Given the description of an element on the screen output the (x, y) to click on. 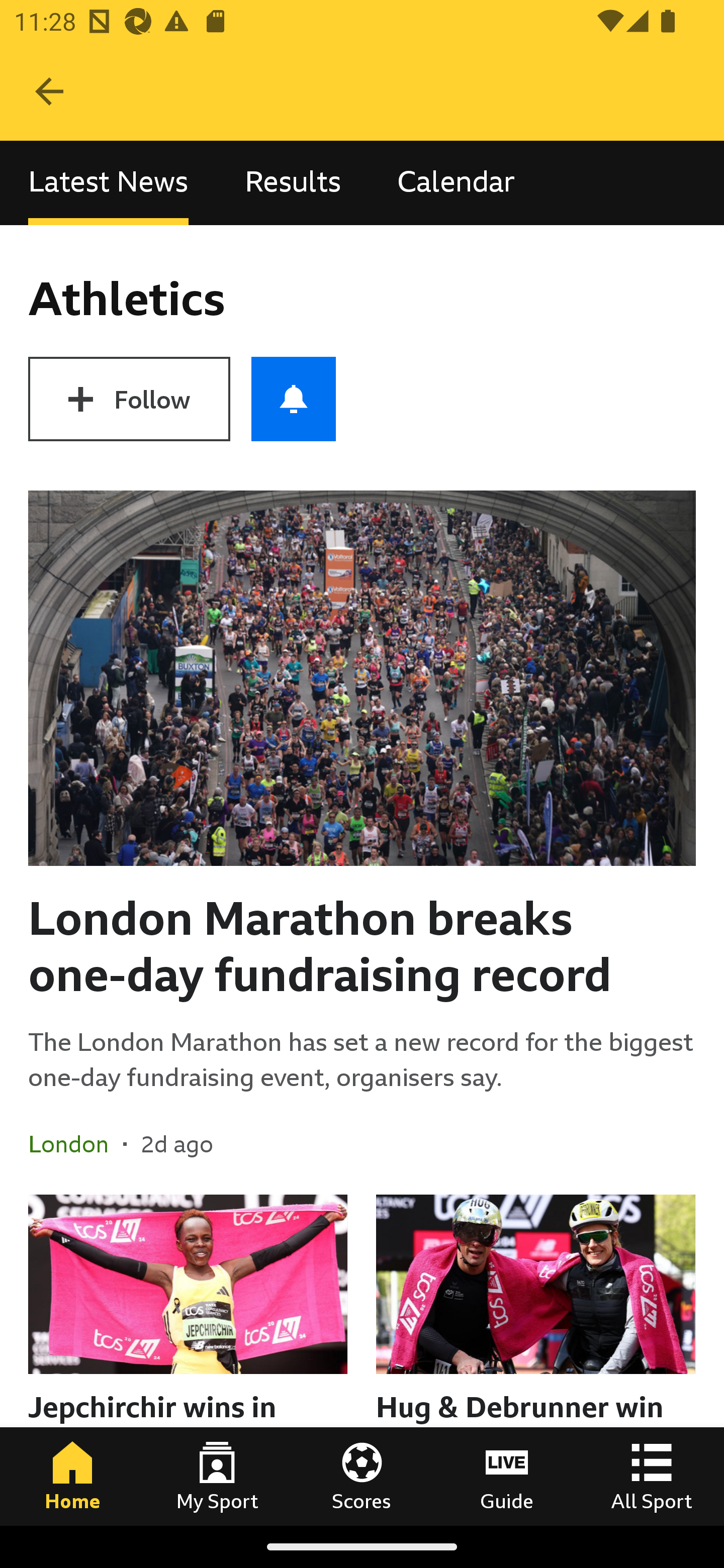
Navigate up (49, 91)
Latest News, selected Latest News (108, 183)
Results (292, 183)
Calendar (456, 183)
Follow Athletics Follow (129, 398)
Push notifications for Athletics (293, 398)
London In the section London (75, 1143)
My Sport (216, 1475)
Scores (361, 1475)
Guide (506, 1475)
All Sport (651, 1475)
